Given the description of an element on the screen output the (x, y) to click on. 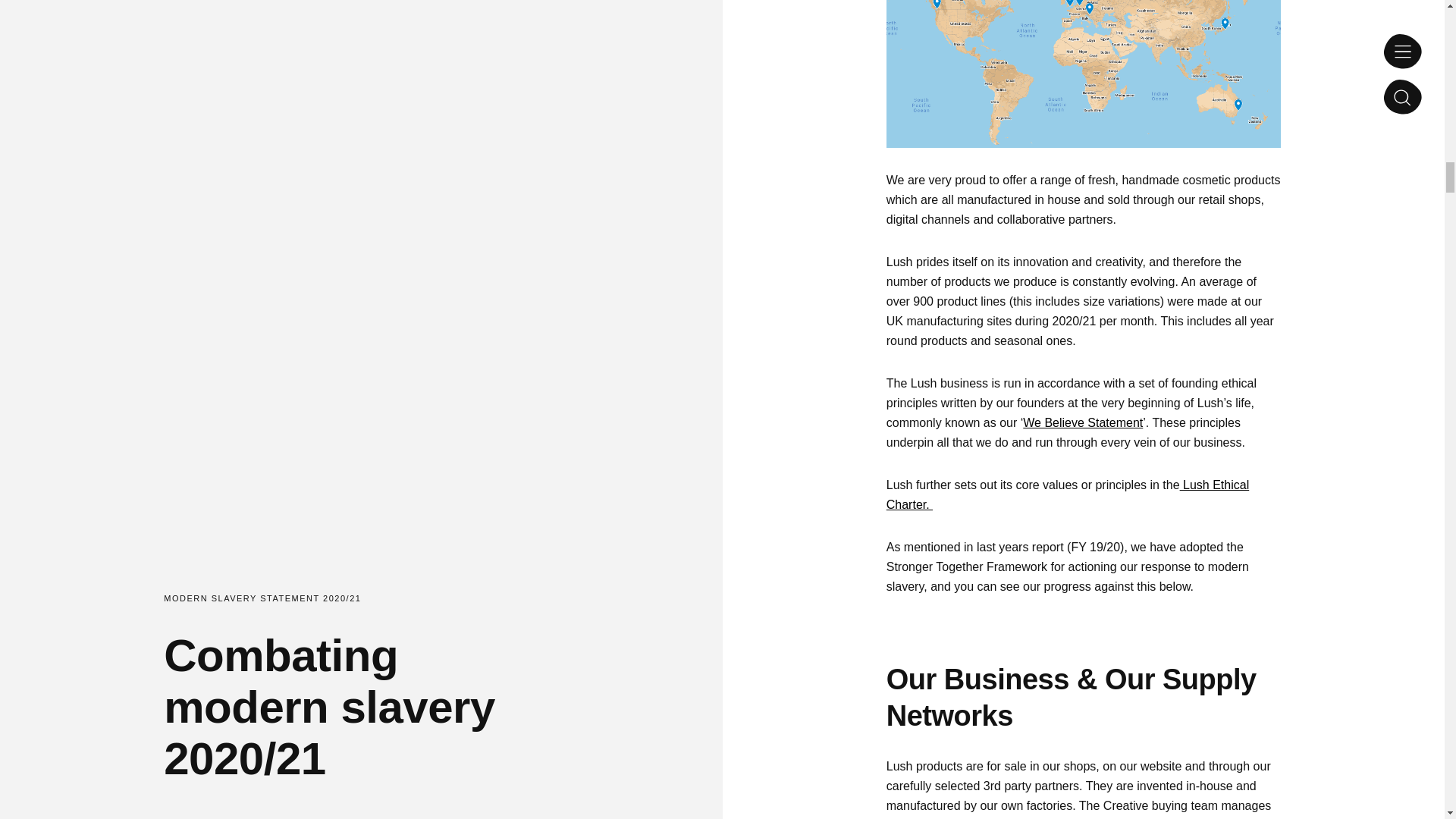
We Believe Statement (1082, 422)
Lush Ethical Charter.  (1067, 494)
